Given the description of an element on the screen output the (x, y) to click on. 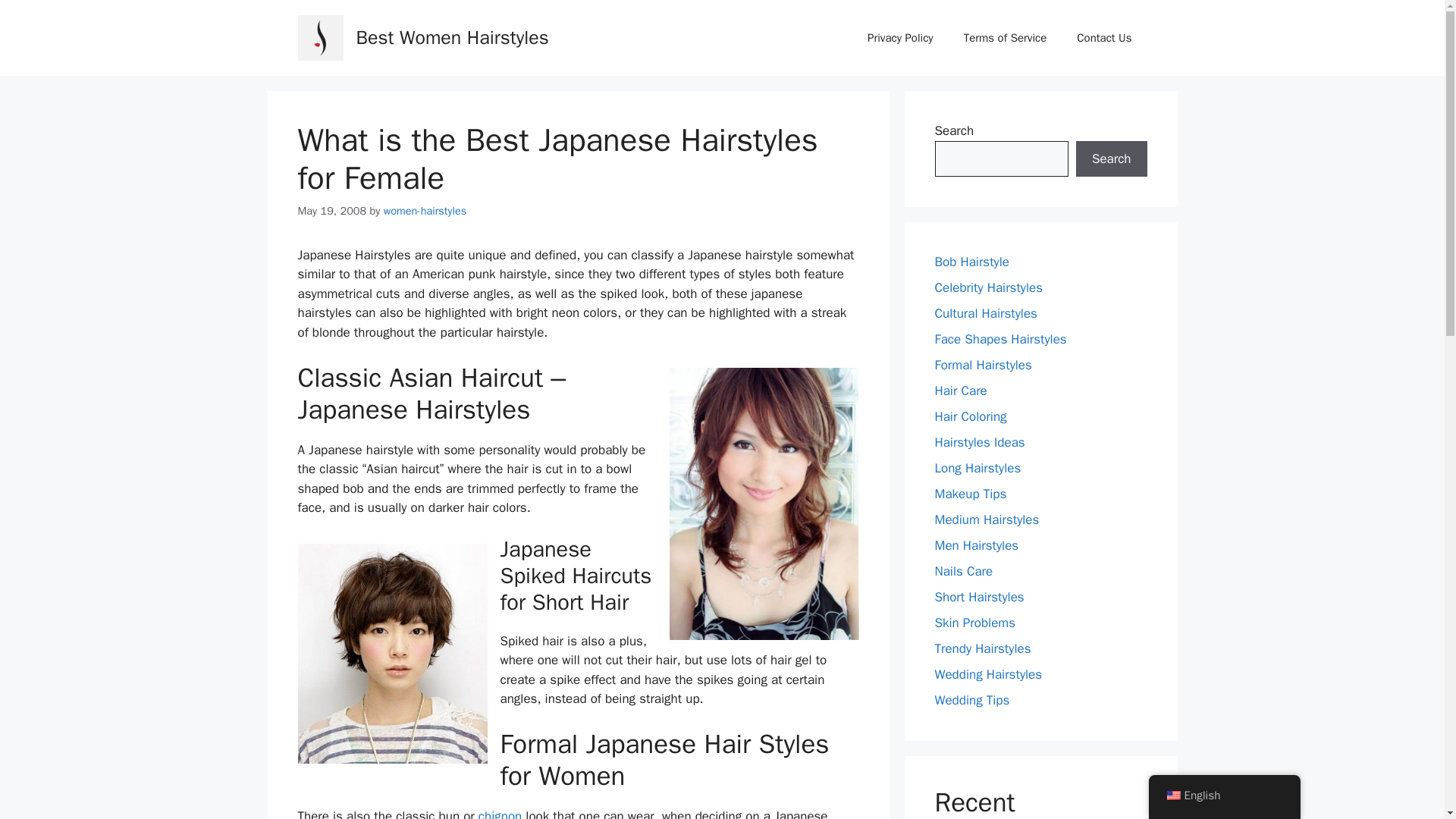
Long Hairstyles (977, 467)
Contact Us (1104, 37)
Celebrity Hairstyles (988, 287)
Medium Hairstyles (986, 519)
Privacy Policy (900, 37)
Hairstyles Ideas (979, 442)
Wedding Hairstyles (988, 674)
What Is A Chignon Hairstyle (500, 813)
Trendy Hairstyles (982, 648)
Nails Care (963, 571)
women-hairstyles (425, 210)
Makeup Tips (970, 494)
Hair Coloring (970, 416)
chignon (500, 813)
English (1224, 795)
